Given the description of an element on the screen output the (x, y) to click on. 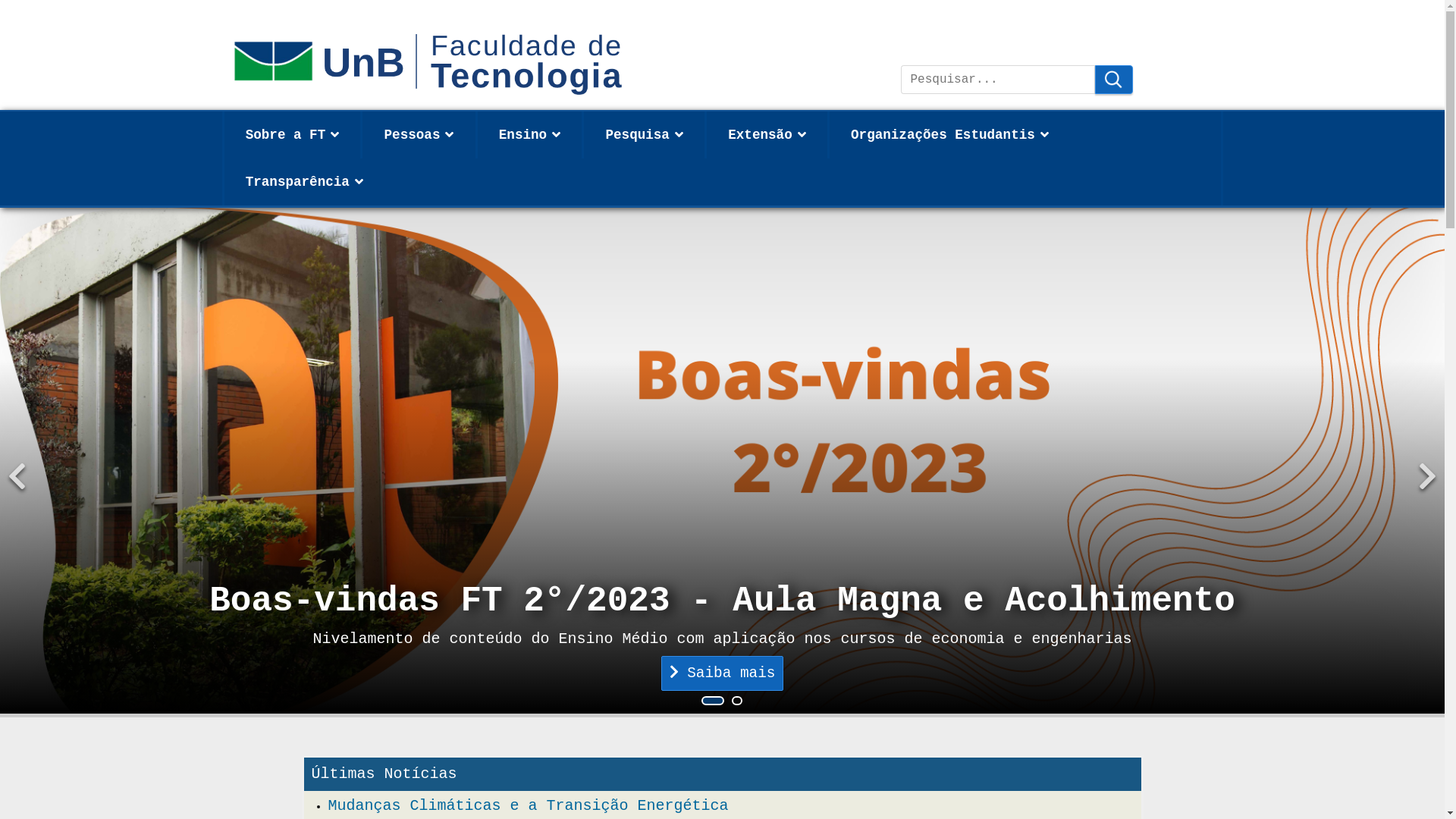
Spanish Element type: hover (973, 25)
Saiba mais Element type: text (722, 672)
Portuguese Element type: hover (912, 25)
English Element type: hover (943, 25)
Pesquisa Element type: text (1113, 79)
